Given the description of an element on the screen output the (x, y) to click on. 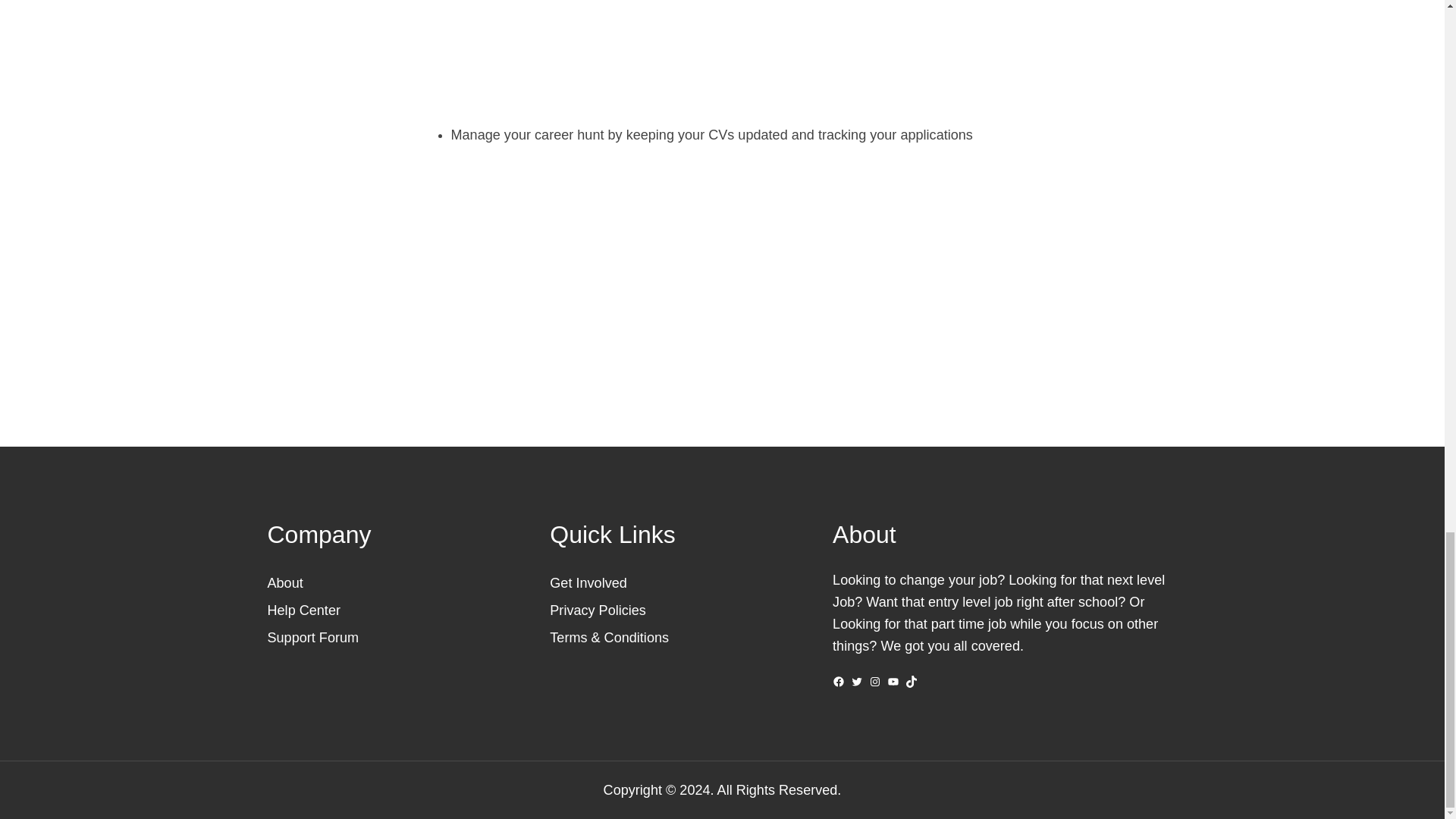
Privacy Policies (598, 610)
Instagram (874, 681)
TikTok (911, 681)
Twitter (856, 681)
Get Involved (588, 582)
YouTube (892, 681)
Help Center (302, 610)
Facebook (838, 681)
Support Forum (312, 637)
